Given the description of an element on the screen output the (x, y) to click on. 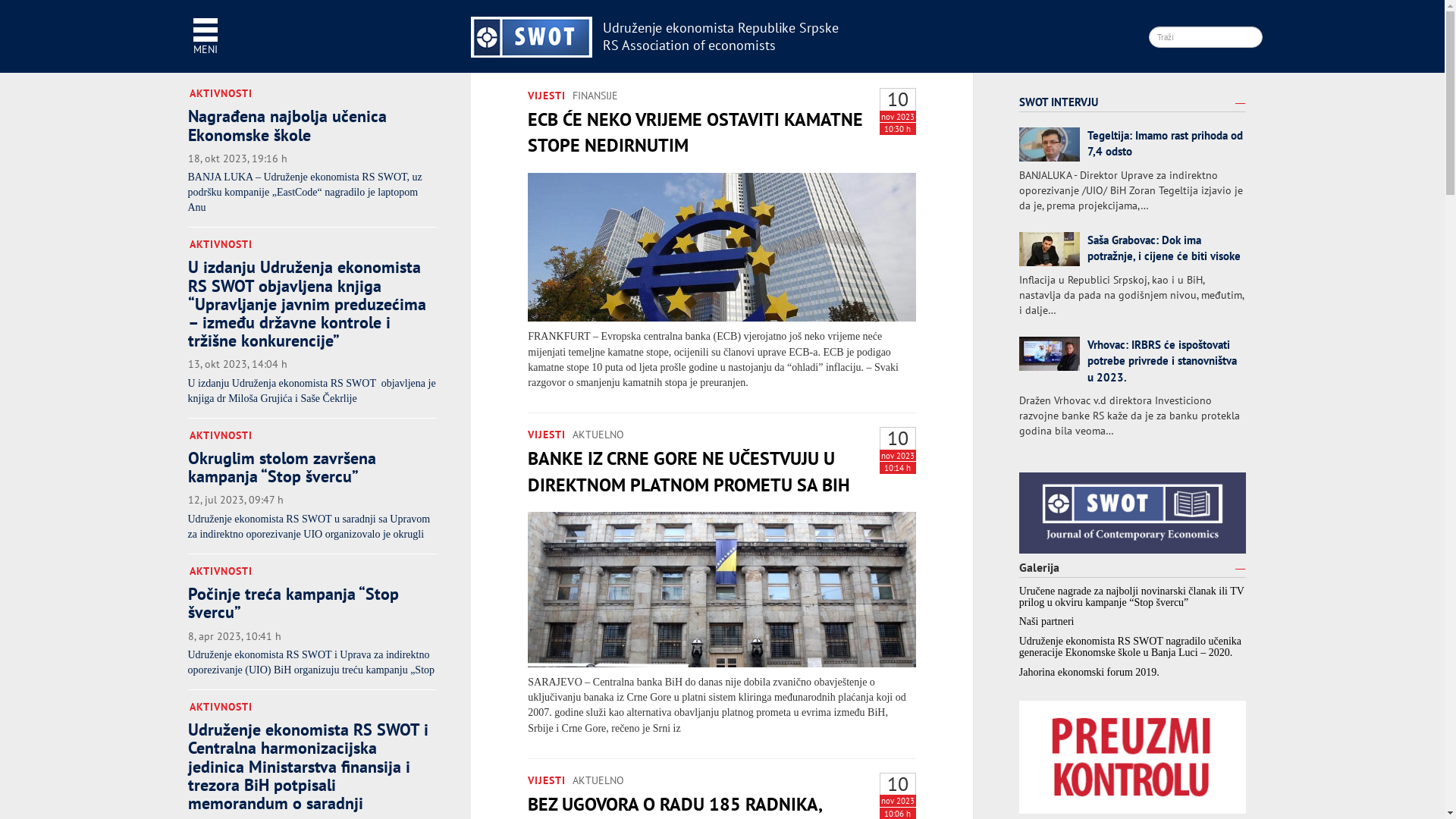
AKTIVNOSTI Element type: text (221, 93)
MENI Element type: text (204, 37)
AKTUELNO Element type: text (598, 780)
AKTIVNOSTI Element type: text (221, 706)
AKTIVNOSTI Element type: text (221, 571)
VIJESTI Element type: text (546, 434)
AKTIVNOSTI Element type: text (221, 435)
Jahorina ekonomski forum 2019. Element type: text (1089, 671)
AKTUELNO Element type: text (598, 434)
AKTIVNOSTI Element type: text (221, 244)
FINANSIJE Element type: text (595, 95)
SWOT INTERVJU Element type: text (1058, 101)
VIJESTI Element type: text (546, 95)
VIJESTI Element type: text (546, 780)
Tegeltija: Imamo rast prihoda od 7,4 odsto Element type: text (1164, 143)
